Given the description of an element on the screen output the (x, y) to click on. 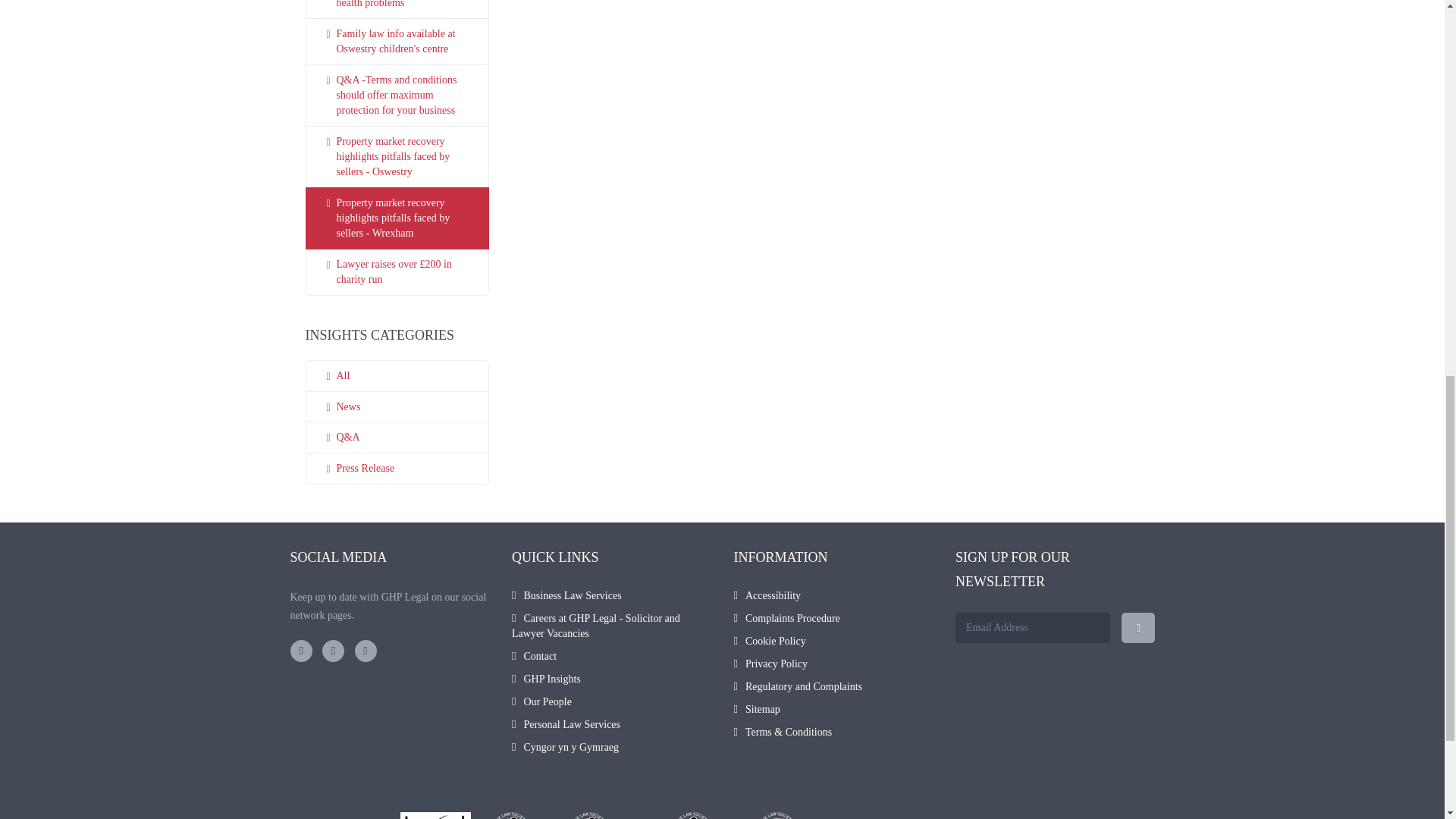
Follow us on Twitter (332, 650)
Law Society Accredited - Conveyancing Quality (796, 815)
Law Society Accredited - Family Advanced (610, 815)
Law Society Accredited - Lexcel (435, 815)
Follow us on LinkedIn (366, 650)
Law Society Accredited - Family Law (520, 815)
Law Society Accredited - Children Law (704, 815)
Like us on Facebook (300, 650)
